Given the description of an element on the screen output the (x, y) to click on. 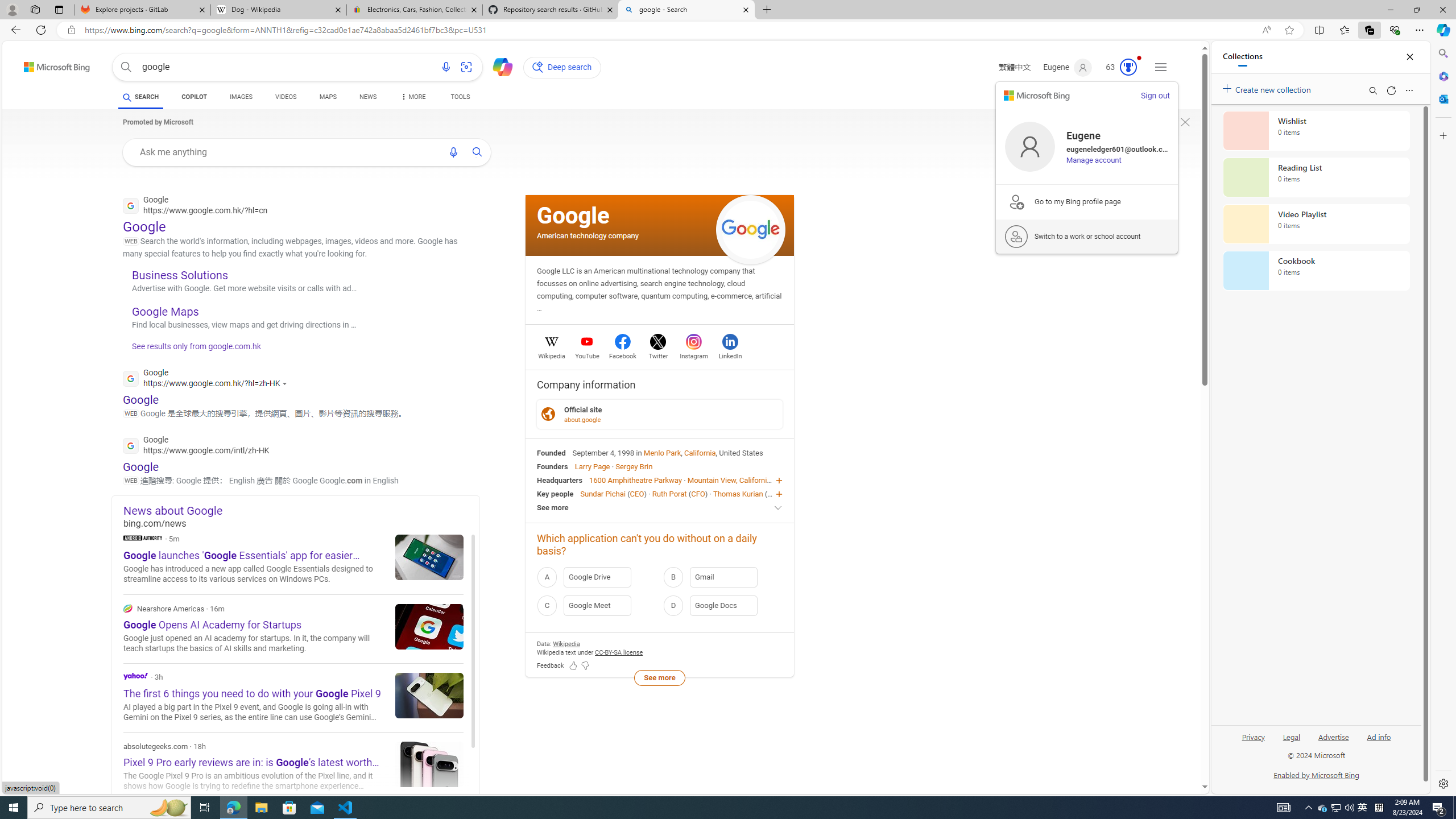
LinkedIn (729, 354)
News about Google (301, 510)
Larry Page (592, 465)
NEWS (367, 98)
CEO (774, 492)
Eugene (1067, 67)
work signin Switch to a work or school account (1086, 236)
Wikipedia (551, 354)
